Given the description of an element on the screen output the (x, y) to click on. 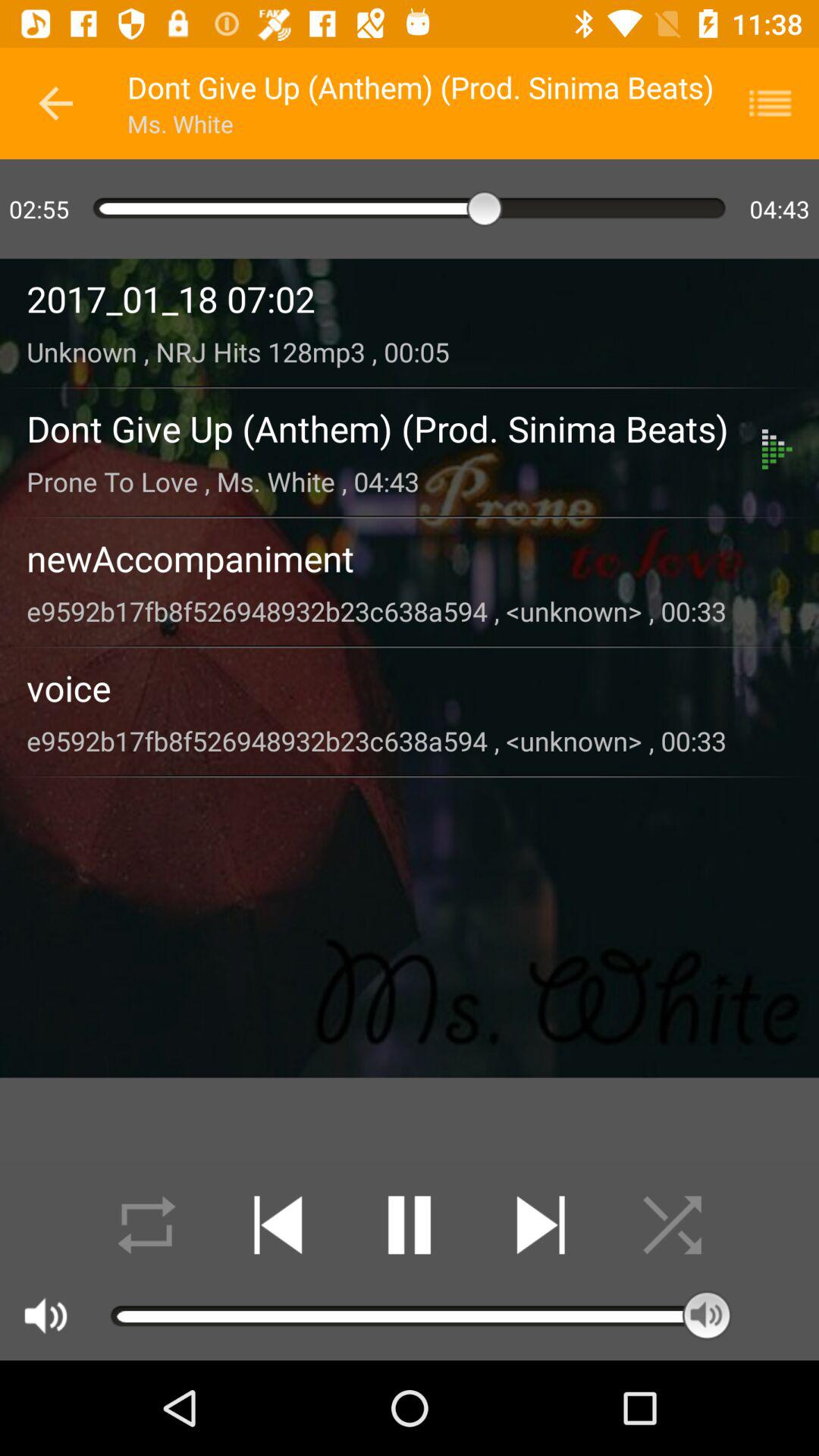
play in loop (146, 1224)
